Given the description of an element on the screen output the (x, y) to click on. 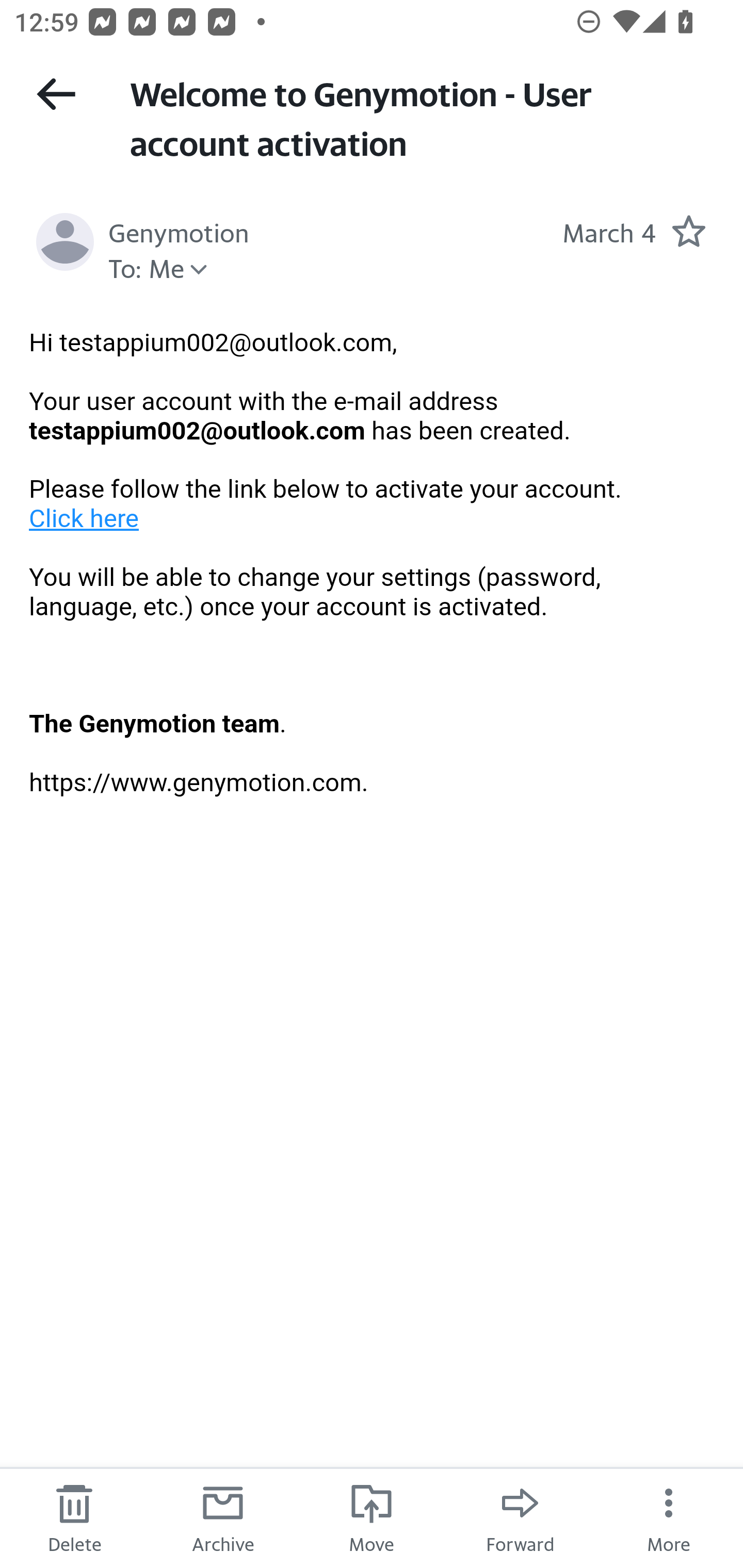
Back (55, 93)
Welcome to Genymotion - User account activation (418, 116)
Profile (64, 242)
Genymotion Sender Genymotion (178, 231)
Mark as starred. (688, 231)
Click here (84, 517)
Delete (74, 1517)
Archive (222, 1517)
Move (371, 1517)
Forward (519, 1517)
More (668, 1517)
